Given the description of an element on the screen output the (x, y) to click on. 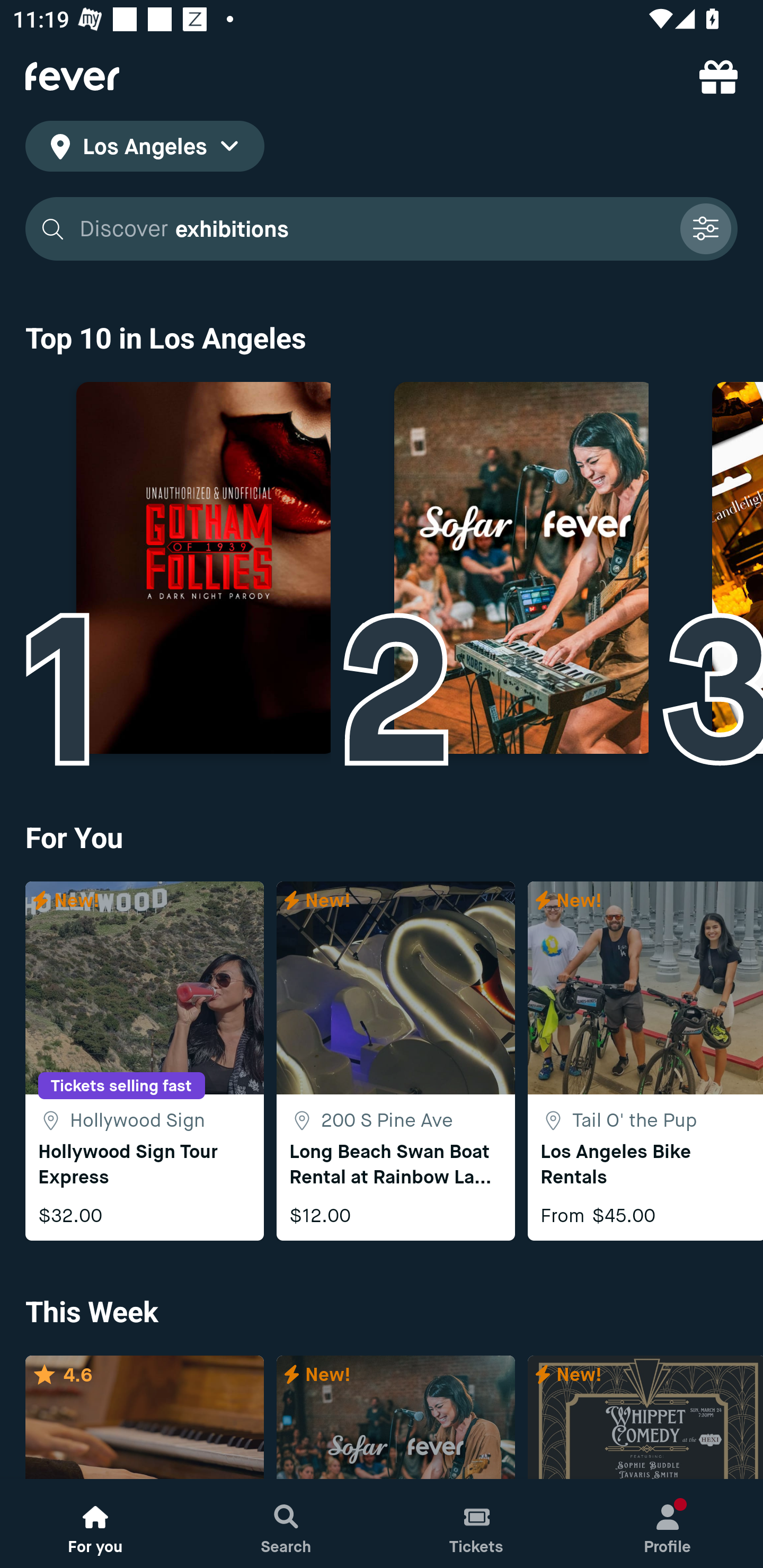
referral (718, 75)
location icon Los Angeles location icon (144, 149)
Discover exhibitions (381, 228)
Discover exhibitions (373, 228)
Search (285, 1523)
Tickets (476, 1523)
Profile, New notification Profile (667, 1523)
